Given the description of an element on the screen output the (x, y) to click on. 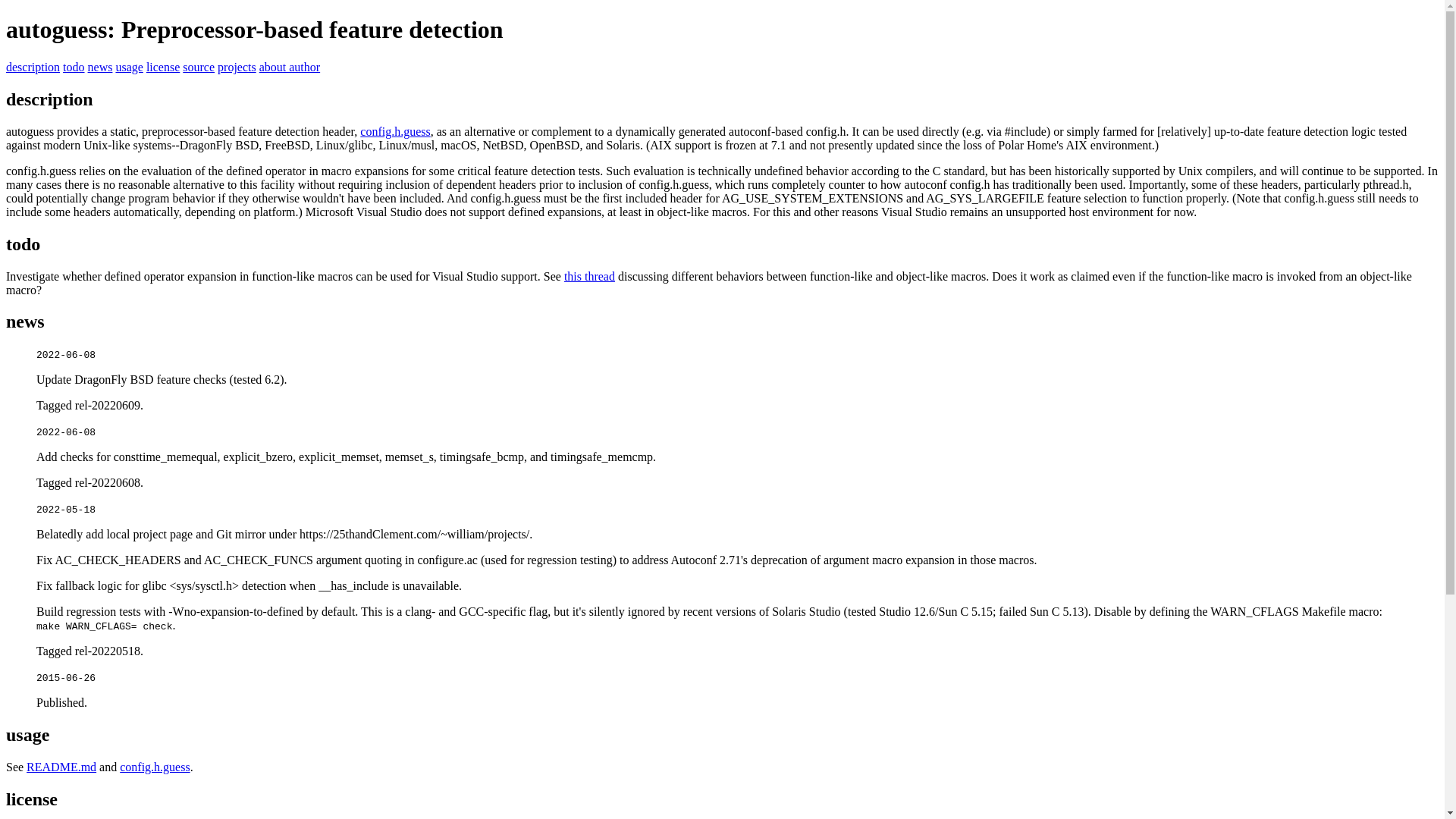
config.h.guess (394, 131)
todo (73, 66)
source (198, 66)
description (32, 66)
projects (236, 66)
config.h.guess (154, 766)
README.md (61, 766)
news (100, 66)
license (163, 66)
about author (289, 66)
usage (128, 66)
this thread (589, 276)
